Given the description of an element on the screen output the (x, y) to click on. 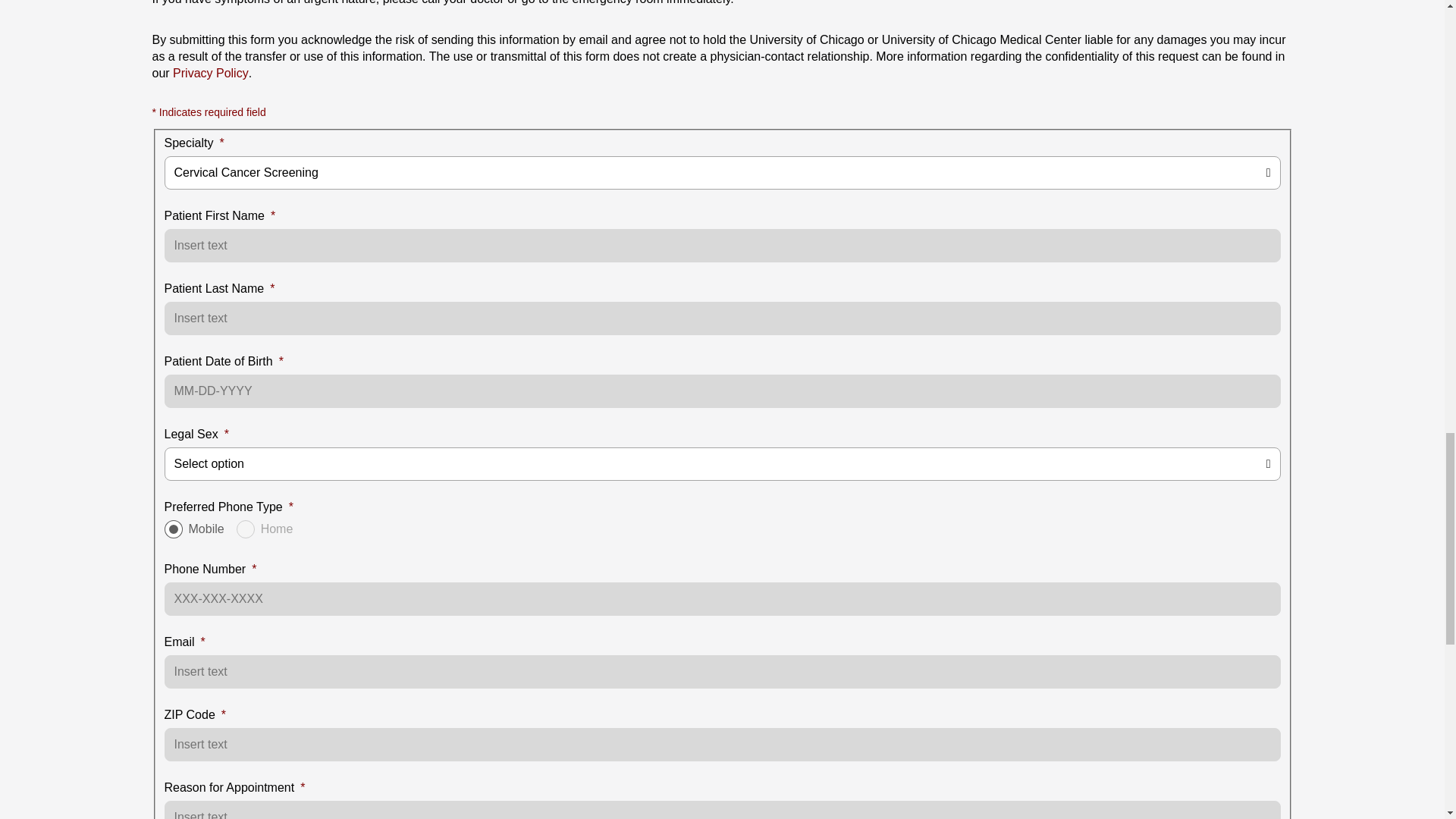
Home (244, 529)
Mobile (172, 529)
